Given the description of an element on the screen output the (x, y) to click on. 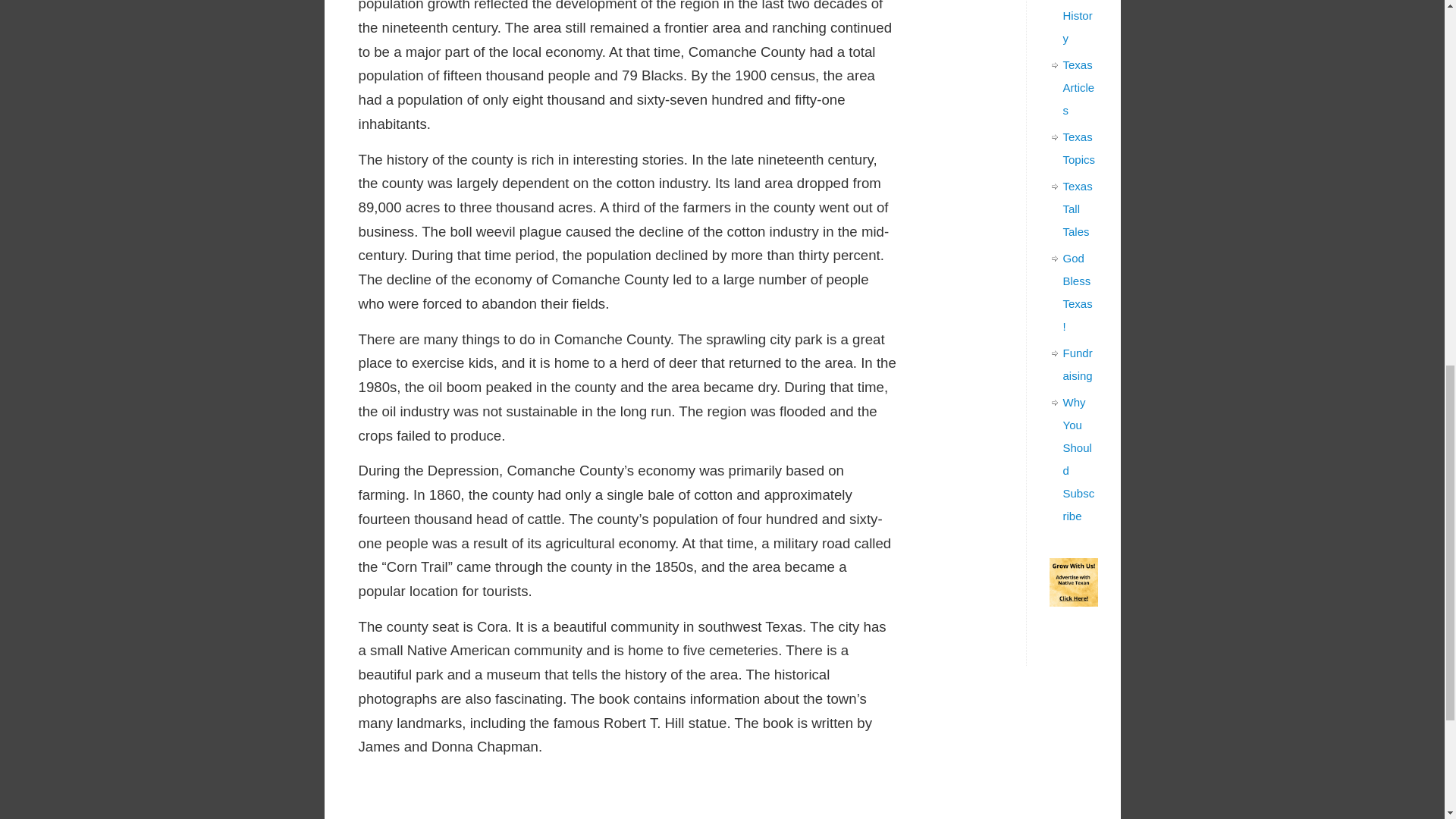
Texas Topics (1079, 148)
